Given the description of an element on the screen output the (x, y) to click on. 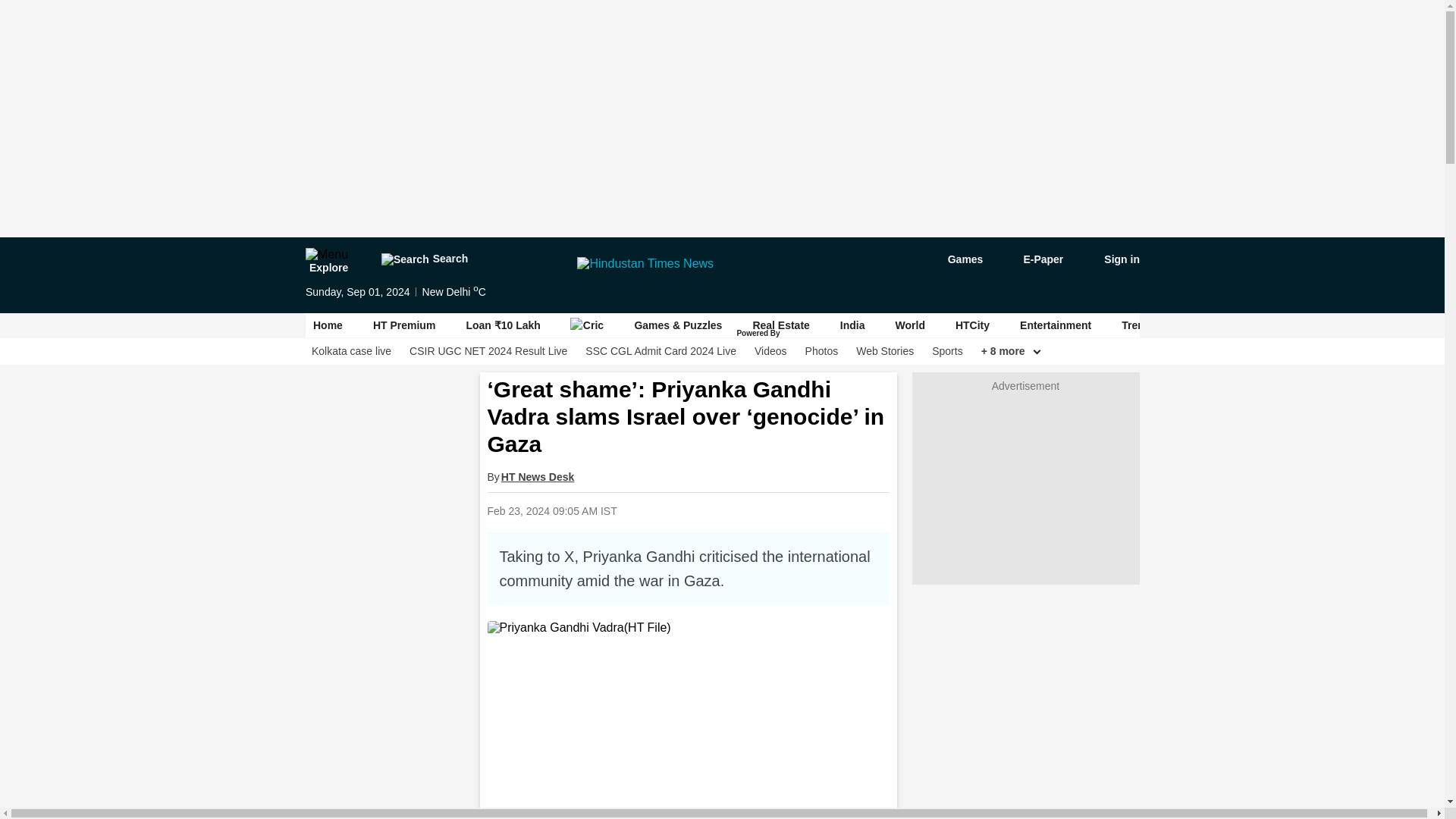
Share on Linkdin (788, 510)
Sports (946, 350)
Trending (1143, 325)
Web Stories (885, 350)
World (909, 325)
Home (327, 325)
Entertainment (1055, 325)
Lifestyle (1297, 325)
Search (423, 258)
SSC CGL Admit Card 2024 Live (660, 350)
